Given the description of an element on the screen output the (x, y) to click on. 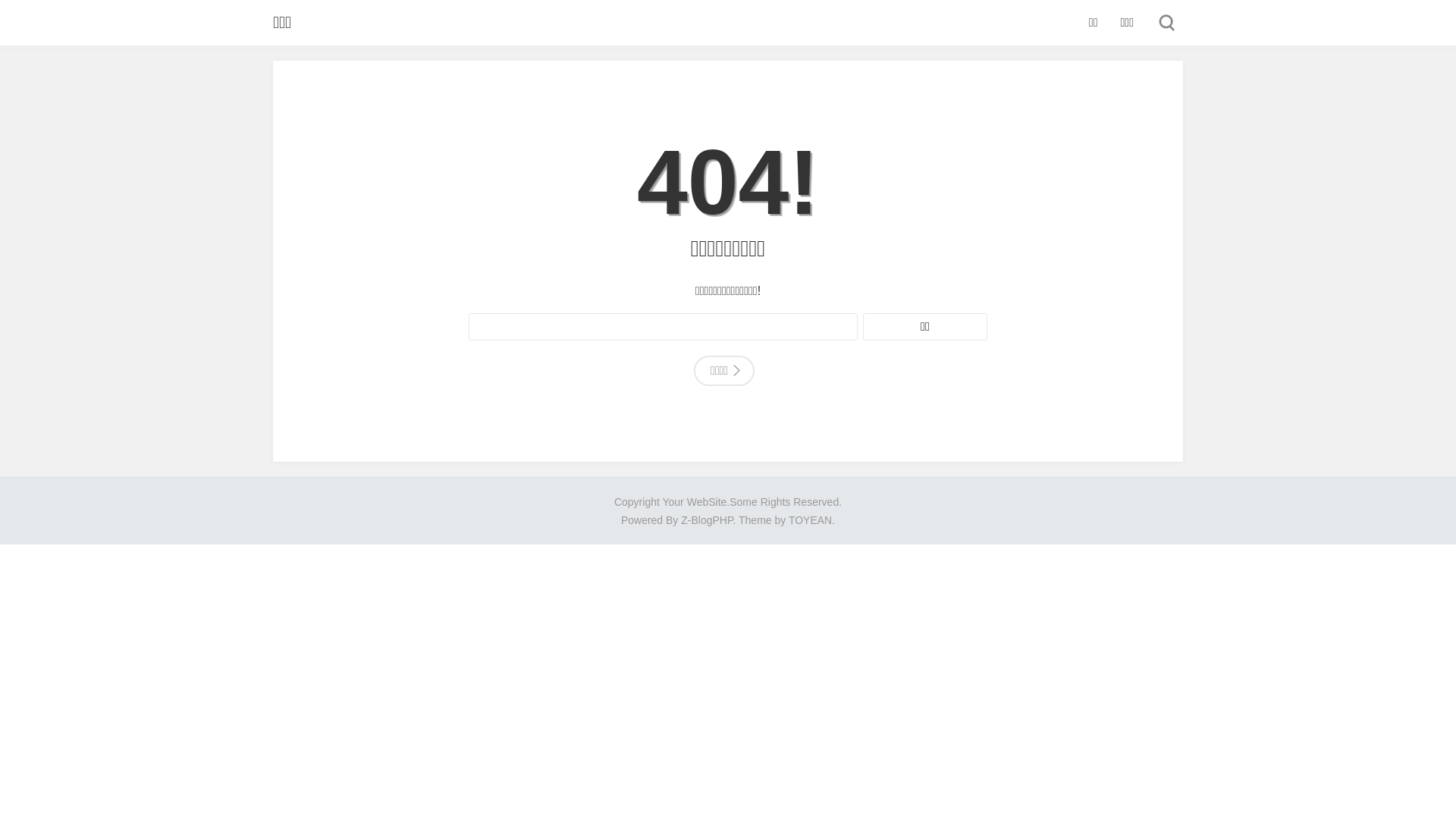
TOYEAN Element type: text (809, 520)
Z-BlogPHP Element type: text (706, 520)
